Given the description of an element on the screen output the (x, y) to click on. 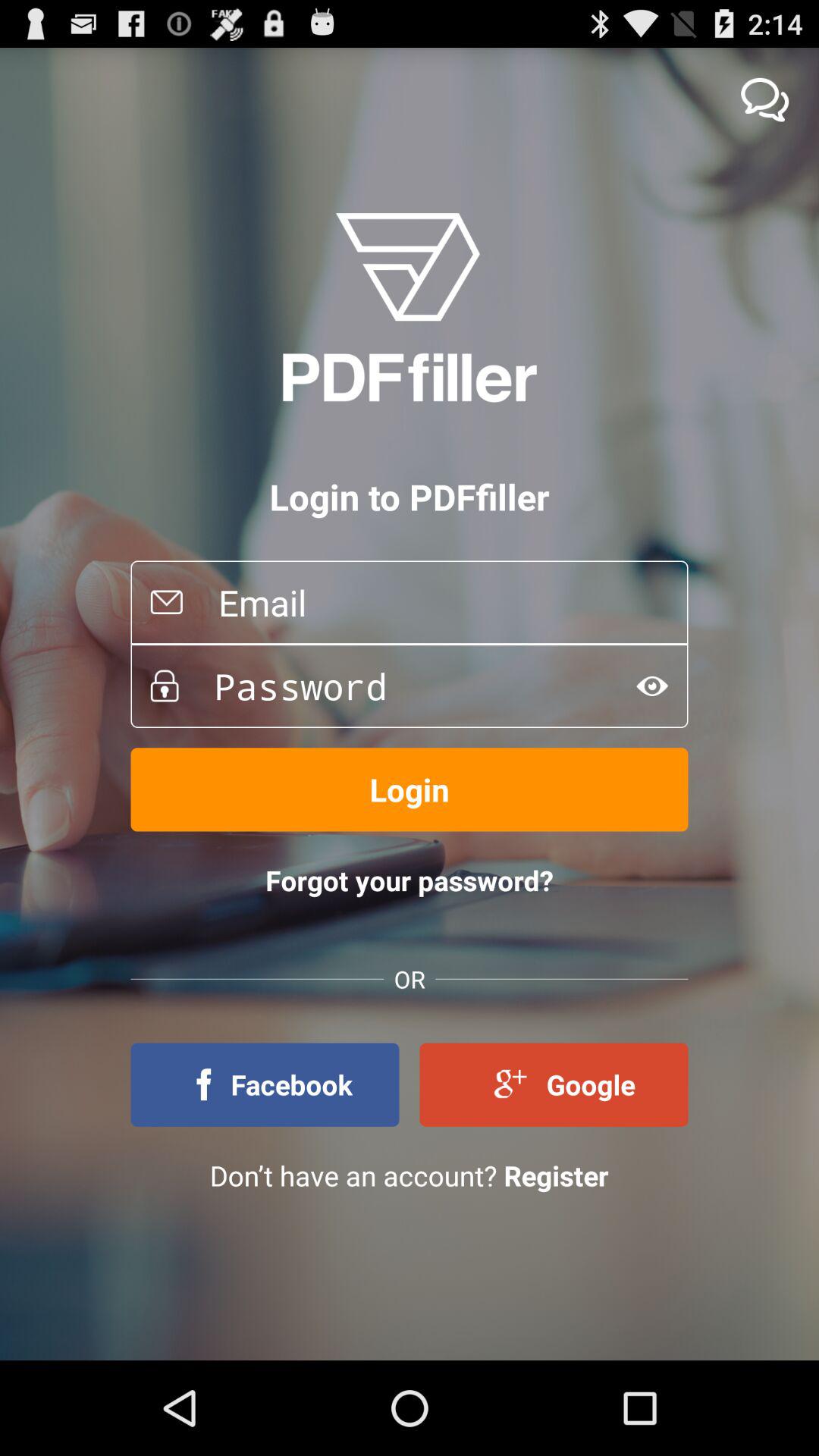
the button gives you the option to see your password or hide it (652, 686)
